Given the description of an element on the screen output the (x, y) to click on. 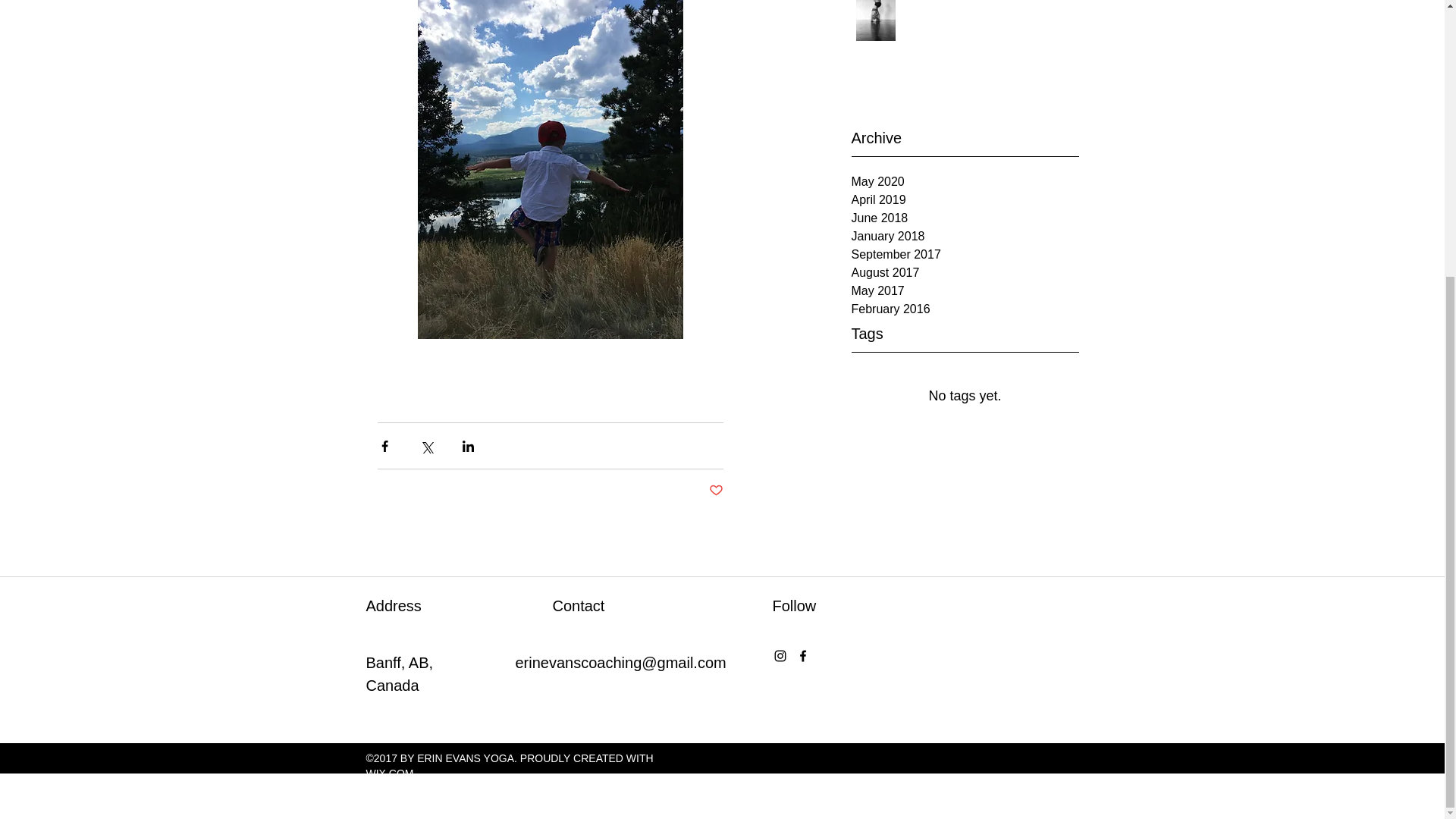
The 8th Obstacle (984, 5)
May 2017 (964, 290)
September 2017 (964, 254)
August 2017 (964, 272)
May 2020 (964, 181)
February 2016 (964, 309)
April 2019 (964, 199)
January 2018 (964, 236)
June 2018 (964, 218)
Post not marked as liked (714, 490)
